Given the description of an element on the screen output the (x, y) to click on. 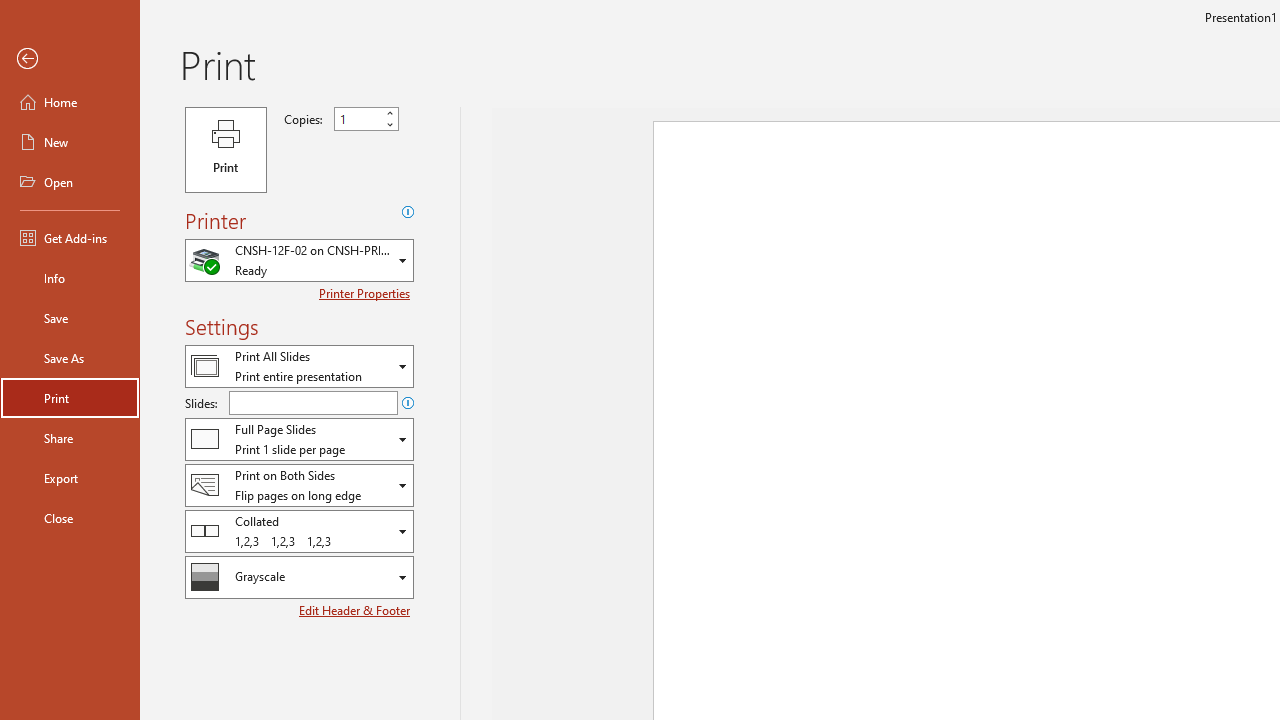
Get Add-ins (69, 237)
Printer Properties (365, 293)
Save As (69, 357)
Slides (313, 402)
Less (389, 124)
Two-Sided Printing (299, 484)
Info (69, 277)
Open (403, 577)
Print What (299, 366)
Slides and Handouts (299, 439)
More (389, 113)
Export (69, 477)
